Given the description of an element on the screen output the (x, y) to click on. 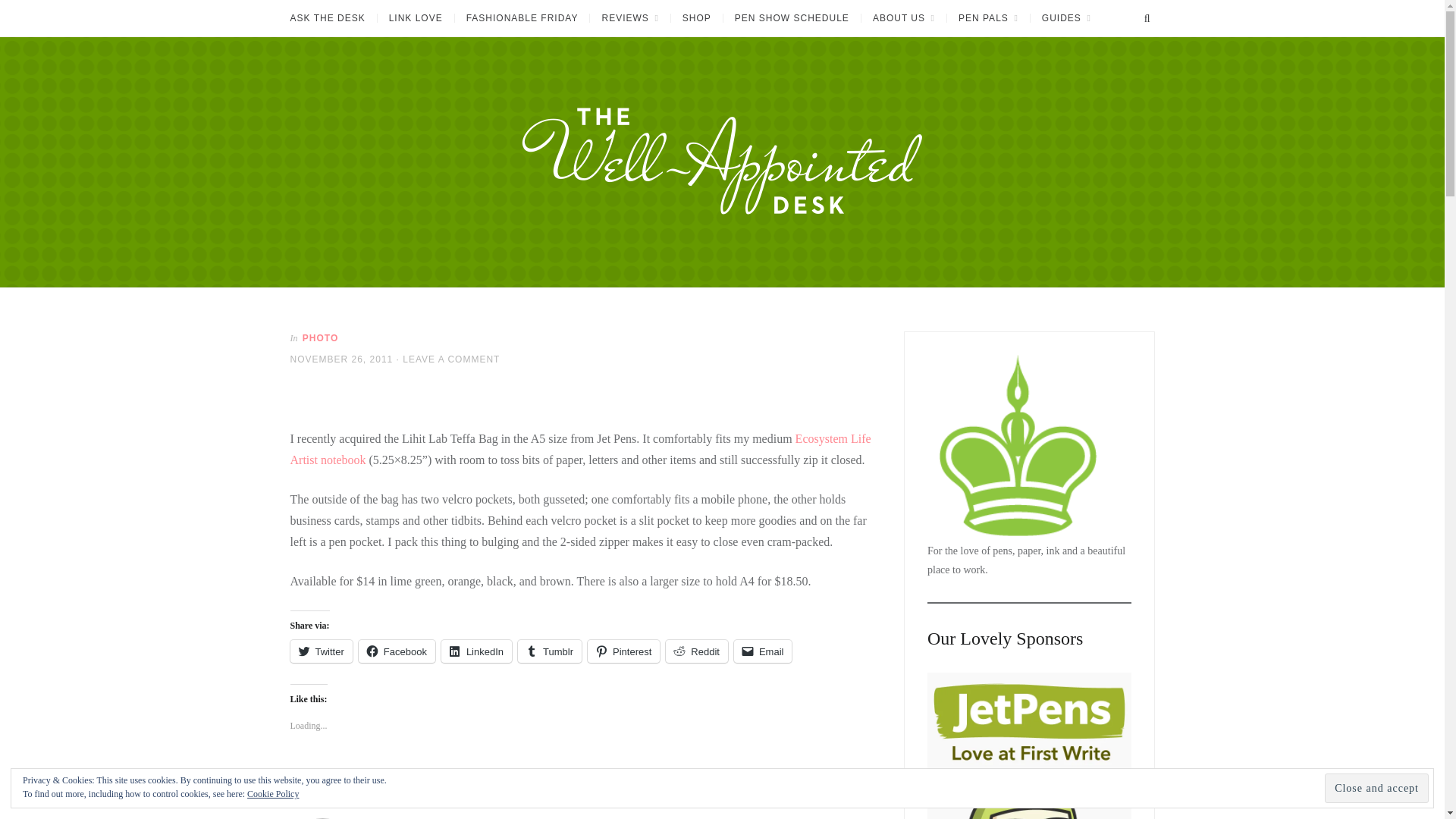
LEAVE A COMMENT (451, 358)
Click to share on Reddit (696, 650)
Facebook (396, 650)
Tumblr (549, 650)
NOVEMBER 26, 2011 (341, 358)
Click to email a link to a friend (762, 650)
Close and accept (1376, 788)
Pinterest (623, 650)
ABOUT US (903, 17)
FACEBOOK (847, 775)
